Given the description of an element on the screen output the (x, y) to click on. 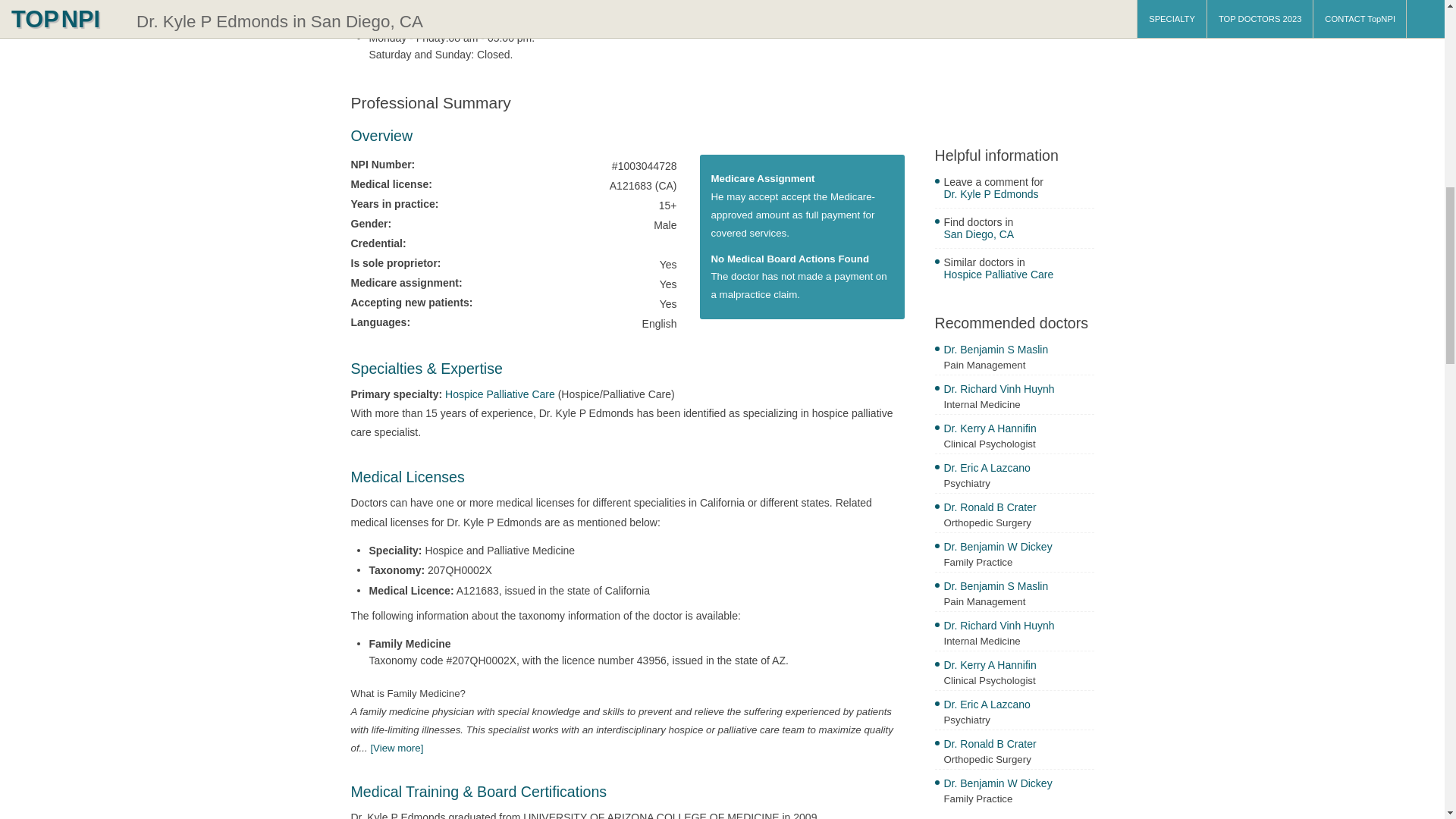
Dr. Ronald B Crater (1018, 745)
Dr. Benjamin W Dickey (1018, 785)
Hospice Palliative Care (1018, 276)
San Diego, CA (1018, 236)
Dr. Richard Vinh Huynh (1018, 390)
Dr. Benjamin S Maslin (1018, 587)
Health Care Provider Taxonomy Code (396, 747)
Dr. Benjamin W Dickey (1018, 548)
Dr. Benjamin S Maslin (1018, 351)
Dr. Ronald B Crater (1018, 508)
Dr. Kerry A Hannifin (1018, 666)
Hospice Palliative Care (499, 394)
Dr. Eric A Lazcano (1018, 469)
Dr. Kyle P Edmonds (1018, 195)
Dr. Kerry A Hannifin (1018, 430)
